Given the description of an element on the screen output the (x, y) to click on. 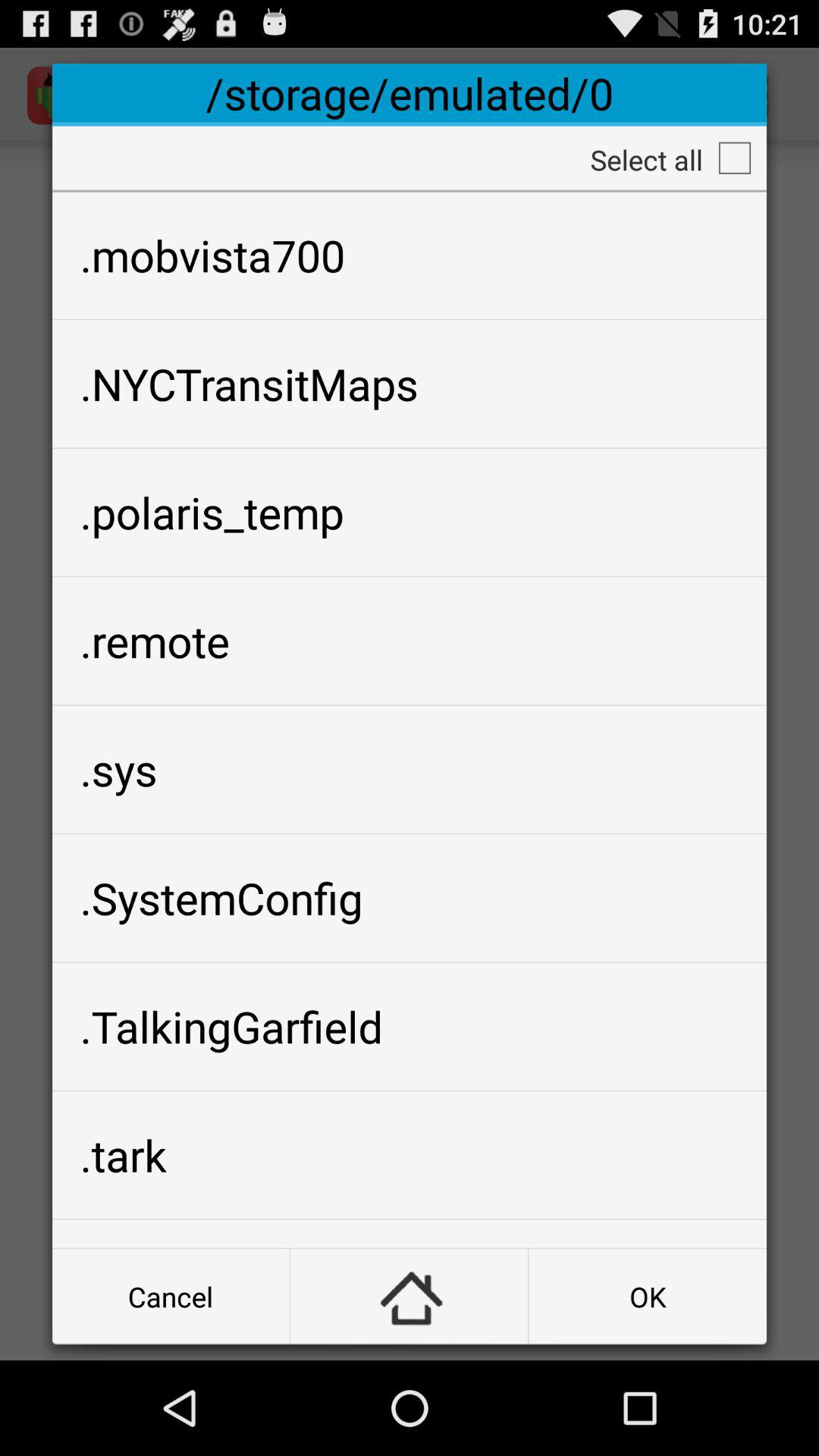
tap app to the right of the select all icon (734, 157)
